Given the description of an element on the screen output the (x, y) to click on. 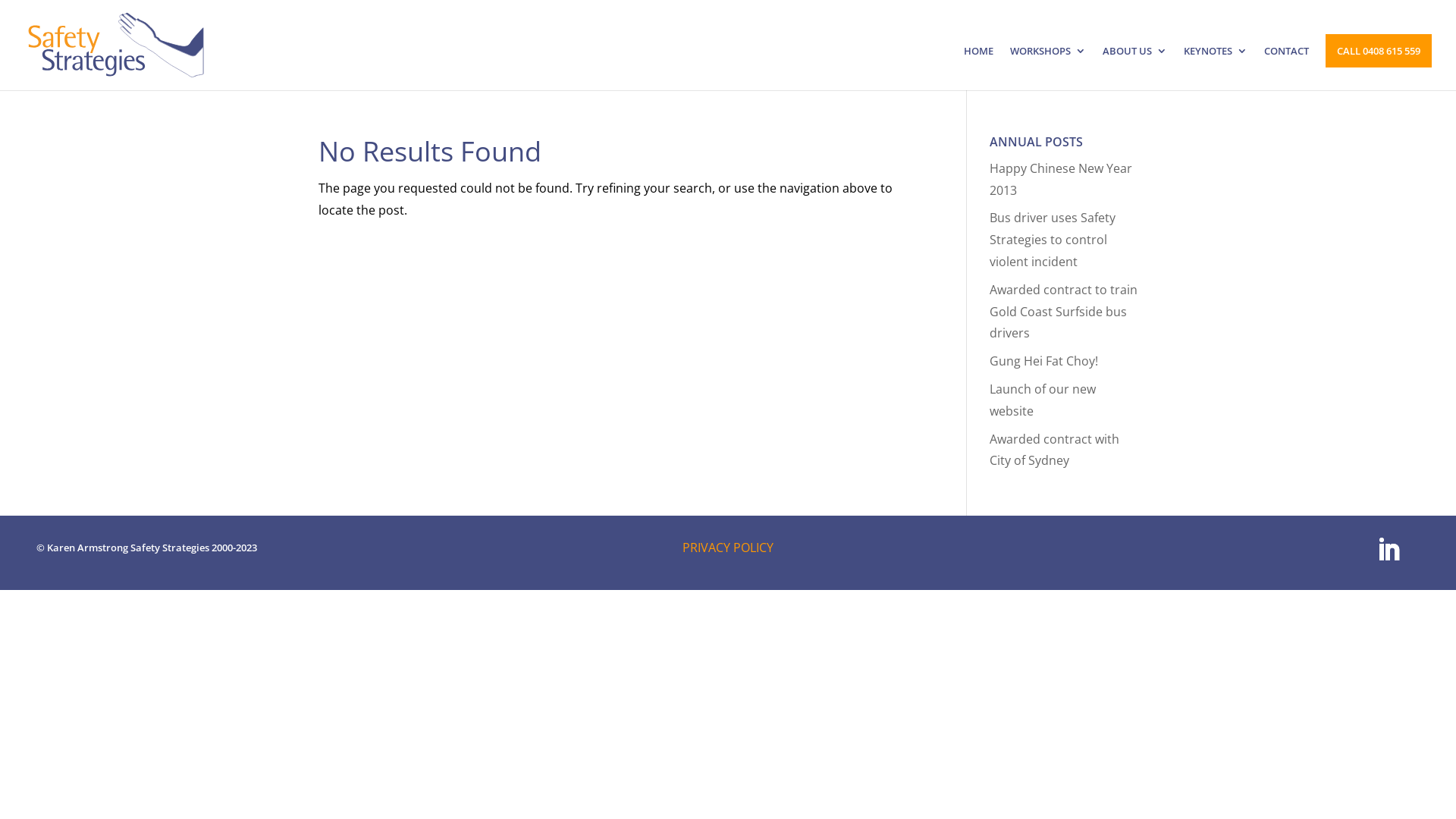
Awarded contract with City of Sydney Element type: text (1054, 449)
KEYNOTES Element type: text (1215, 67)
PRIVACY POLICY Element type: text (727, 547)
Gung Hei Fat Choy! Element type: text (1043, 360)
Launch of our new website Element type: text (1042, 399)
ABOUT US Element type: text (1134, 67)
CALL 0408 615 559 Element type: text (1378, 50)
HOME Element type: text (978, 67)
CONTACT Element type: text (1286, 67)
Follow on LinkedIn Element type: hover (1388, 549)
WORKSHOPS Element type: text (1047, 67)
Happy Chinese New Year 2013 Element type: text (1060, 179)
Awarded contract to train Gold Coast Surfside bus drivers Element type: text (1063, 311)
